Given the description of an element on the screen output the (x, y) to click on. 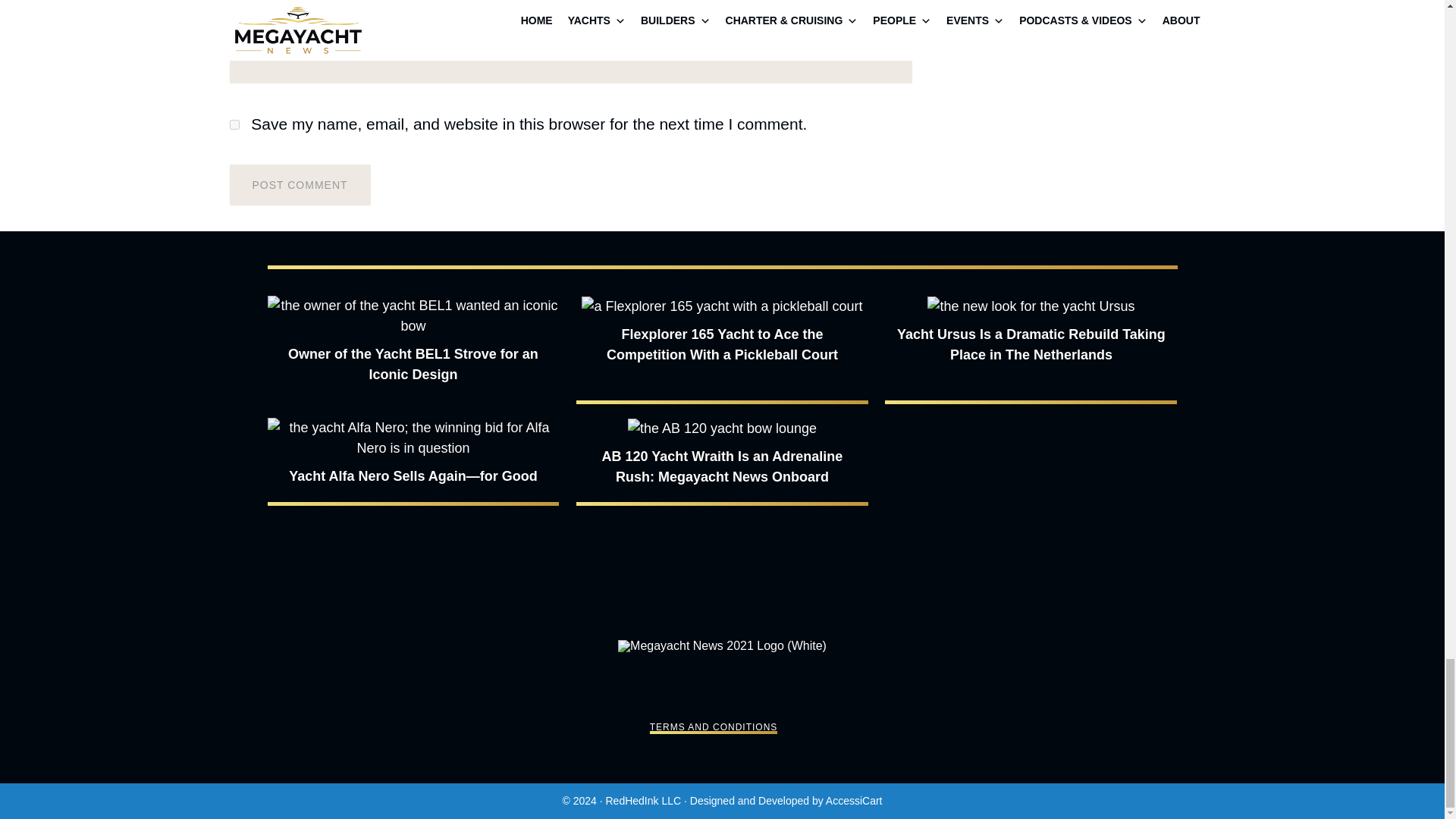
yes (233, 124)
Post Comment (298, 184)
